Given the description of an element on the screen output the (x, y) to click on. 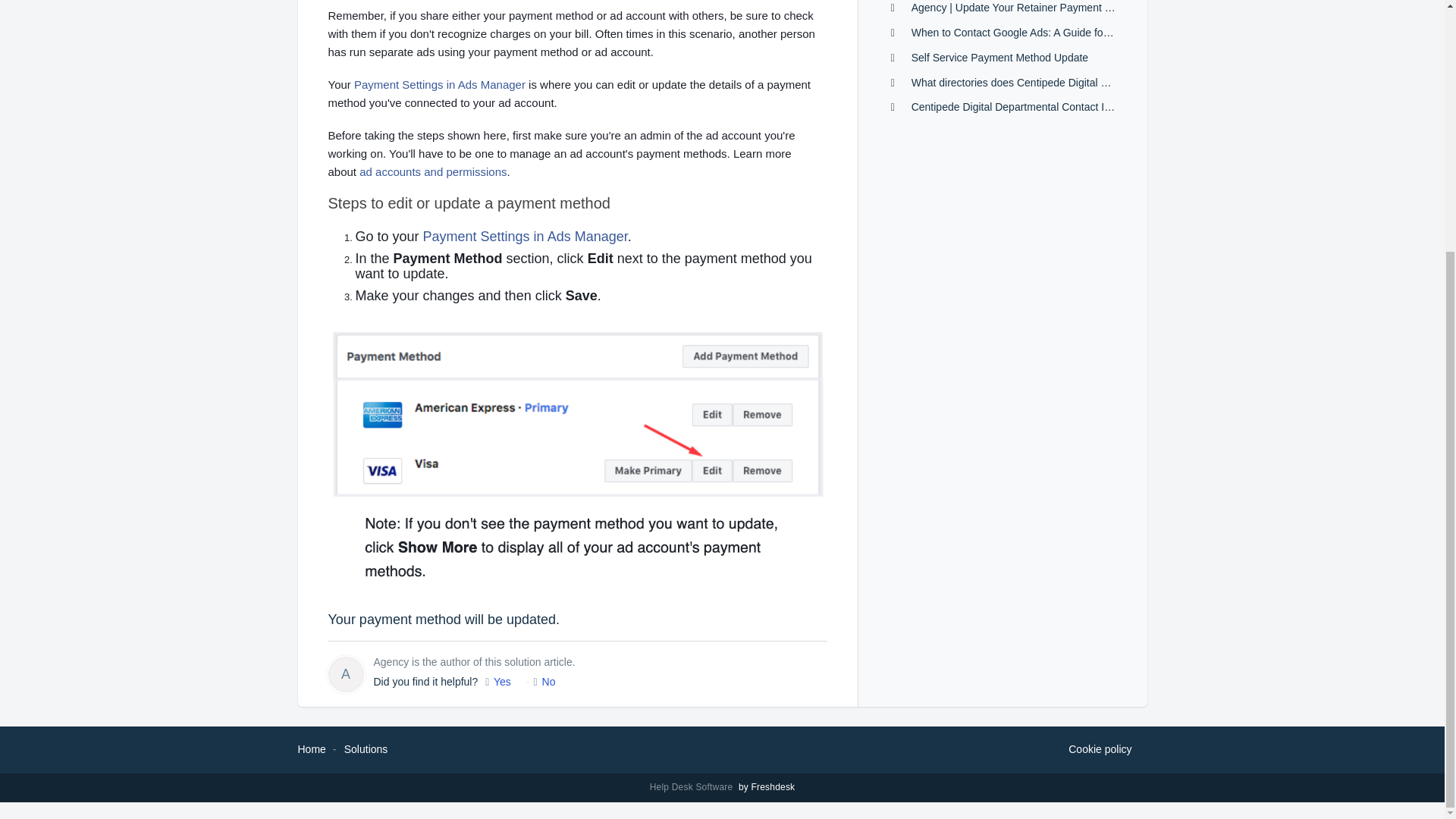
Solutions (365, 748)
Payment Settings in Ads Manager (439, 83)
Cookie policy (1099, 750)
Centipede Digital Departmental Contact Information (1032, 106)
When to Contact Google Ads: A Guide for Business Owners (1051, 32)
Home (310, 748)
Chat (1406, 423)
Help Desk Software (693, 787)
Self Service Payment Method Update (999, 57)
Why we love Cookies (1099, 750)
Payment Settings in Ads Manager (525, 236)
ad accounts and permissions (432, 171)
